Given the description of an element on the screen output the (x, y) to click on. 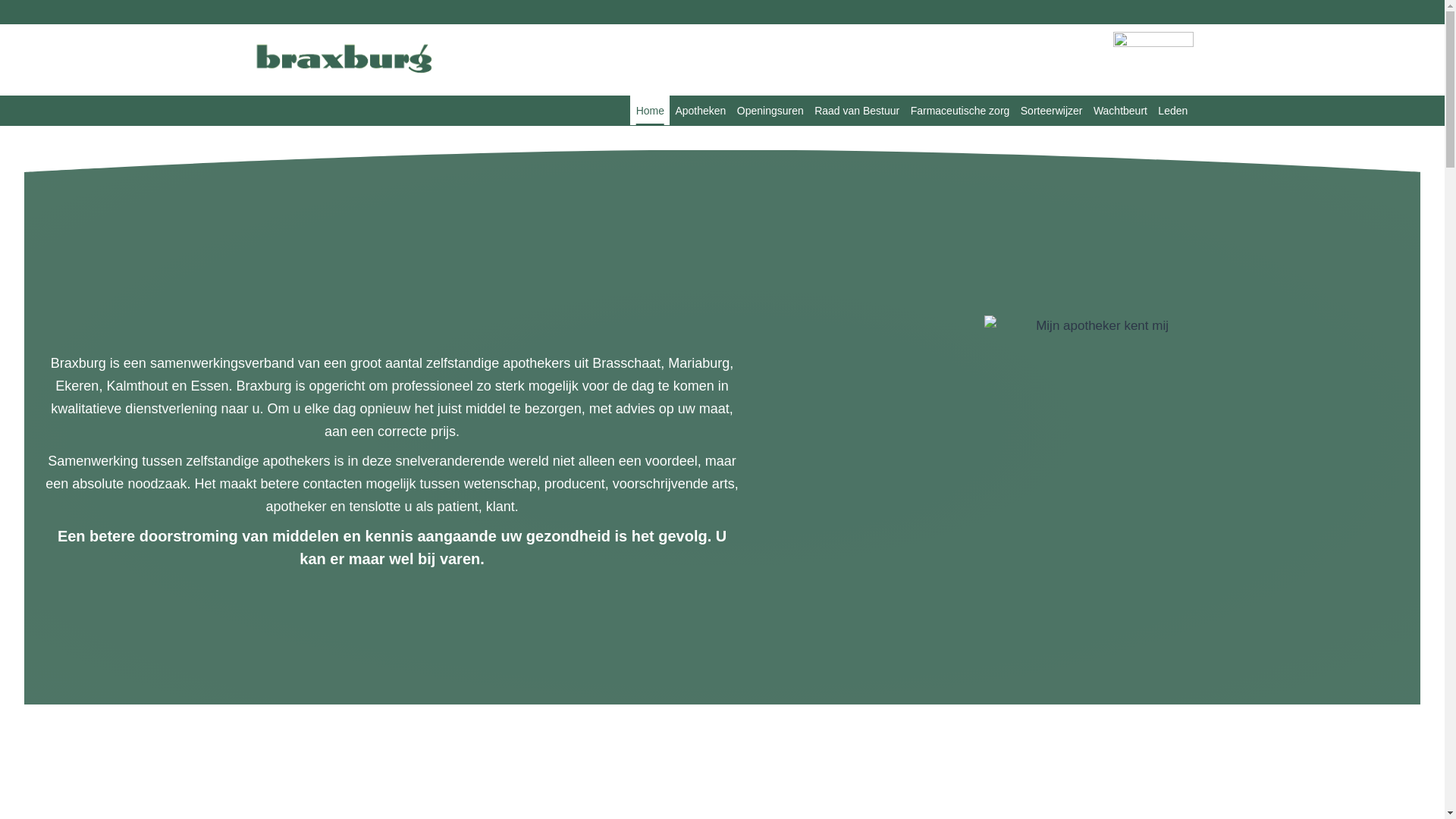
Farmaceutische zorg Element type: text (959, 110)
Leden Element type: text (1172, 110)
Apotheken Element type: text (700, 110)
Raad van Bestuur Element type: text (856, 110)
Home Element type: text (649, 110)
Sorteerwijzer Element type: text (1051, 110)
Openingsuren Element type: text (770, 110)
Wachtbeurt Element type: text (1120, 110)
